Given the description of an element on the screen output the (x, y) to click on. 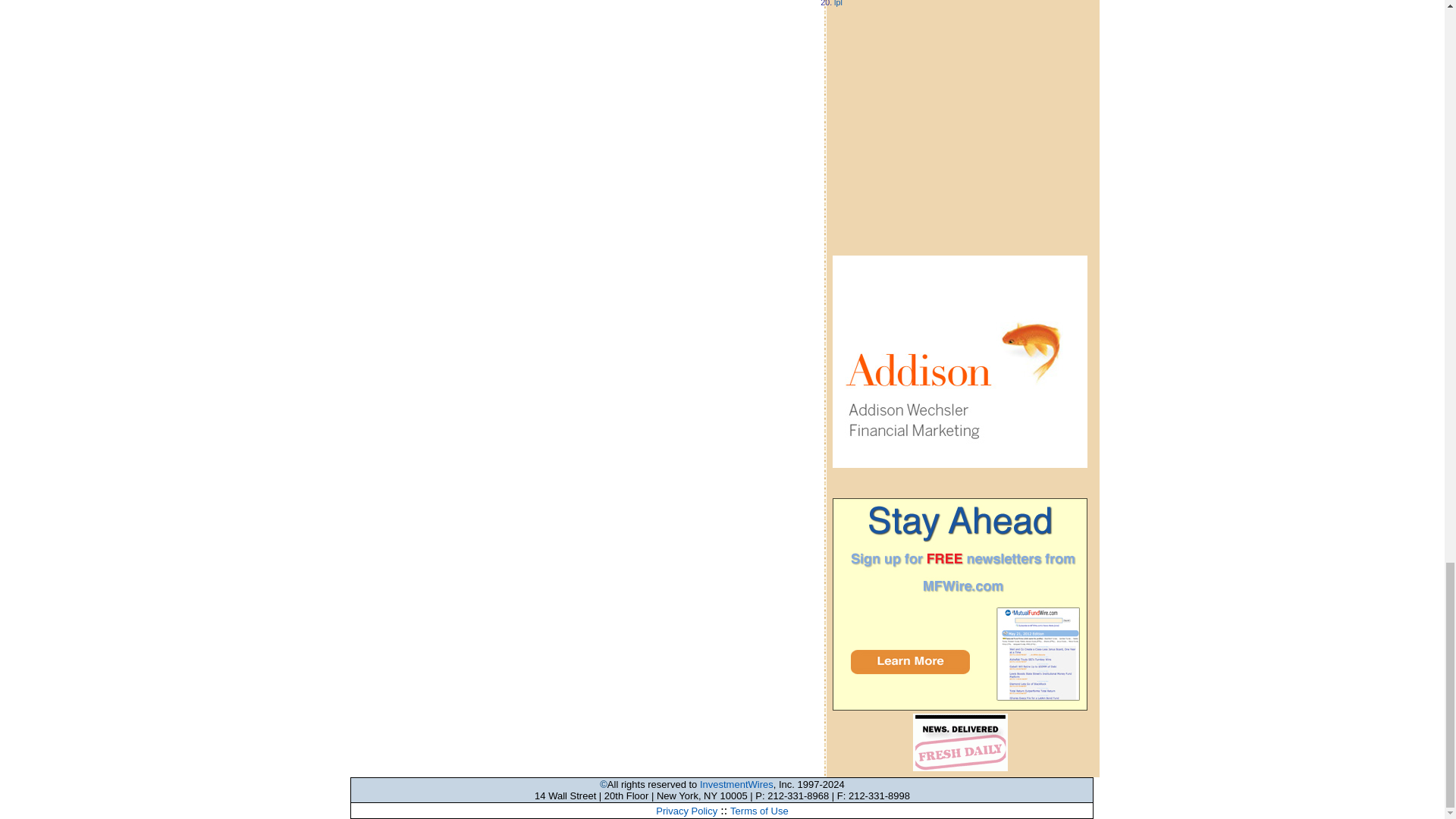
Advertisement (959, 119)
